Given the description of an element on the screen output the (x, y) to click on. 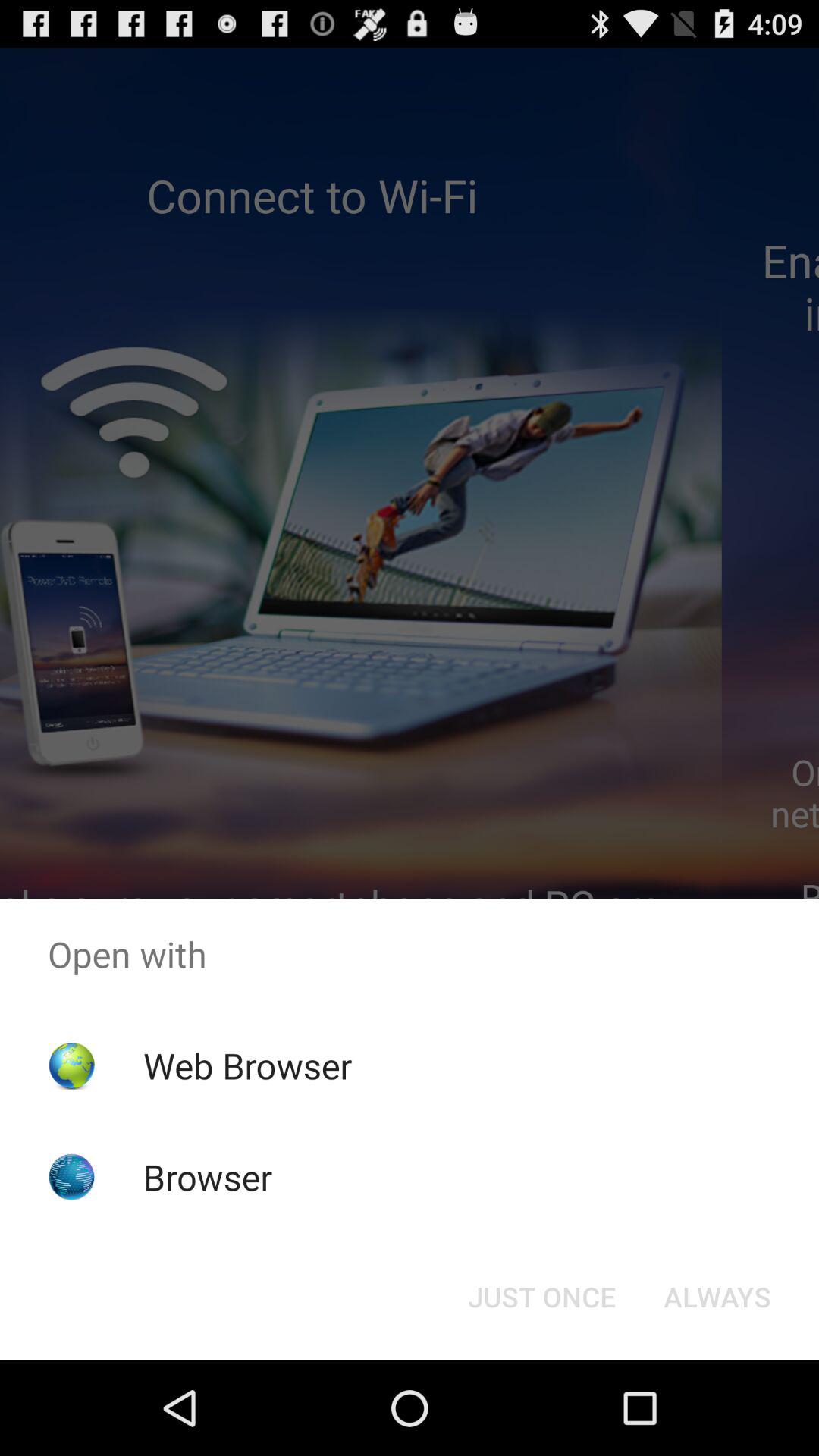
turn on the web browser app (247, 1065)
